Given the description of an element on the screen output the (x, y) to click on. 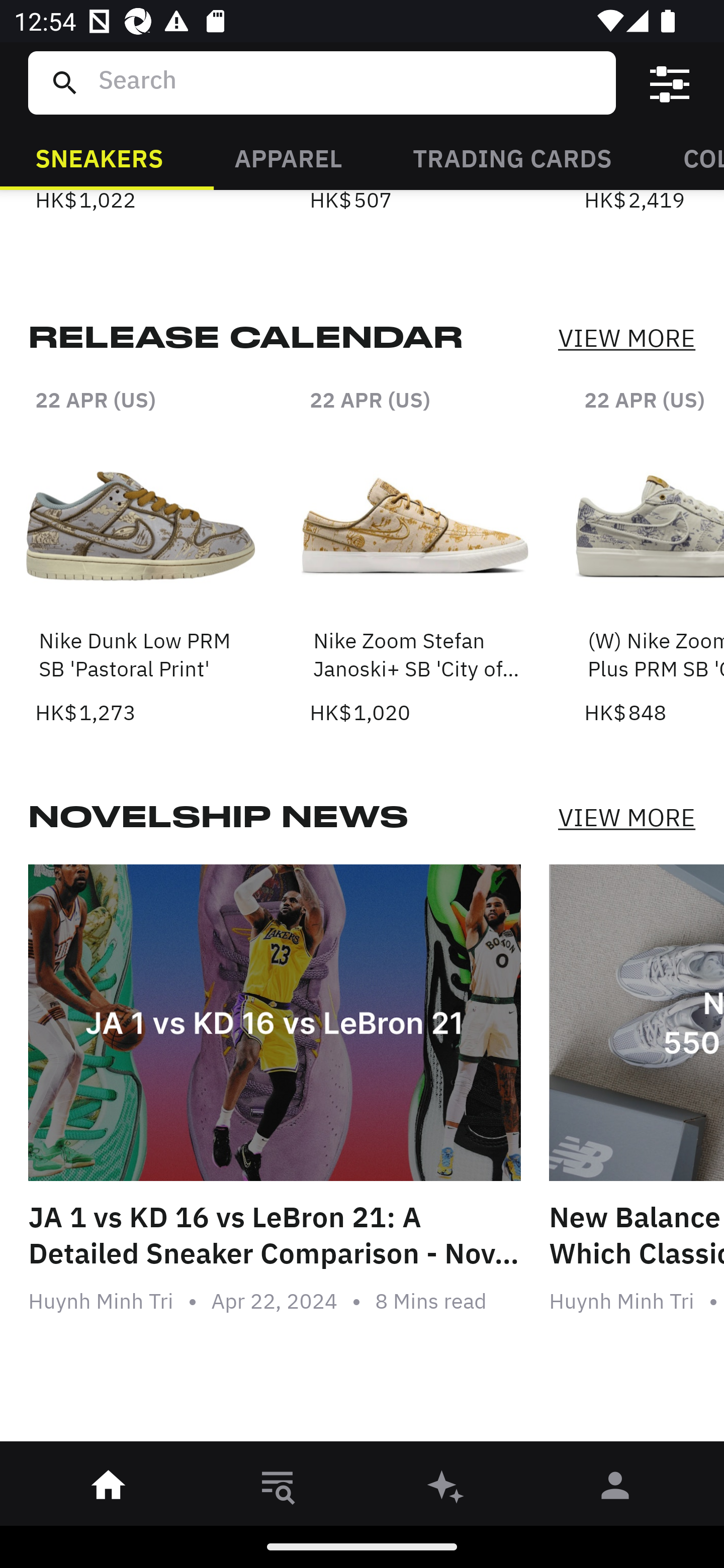
Search (349, 82)
 (669, 82)
SNEAKERS (99, 156)
APPAREL (287, 156)
TRADING CARDS (512, 156)
VIEW MORE (626, 338)
VIEW MORE (626, 816)
󰋜 (108, 1488)
󱎸 (277, 1488)
󰫢 (446, 1488)
󰀄 (615, 1488)
